Given the description of an element on the screen output the (x, y) to click on. 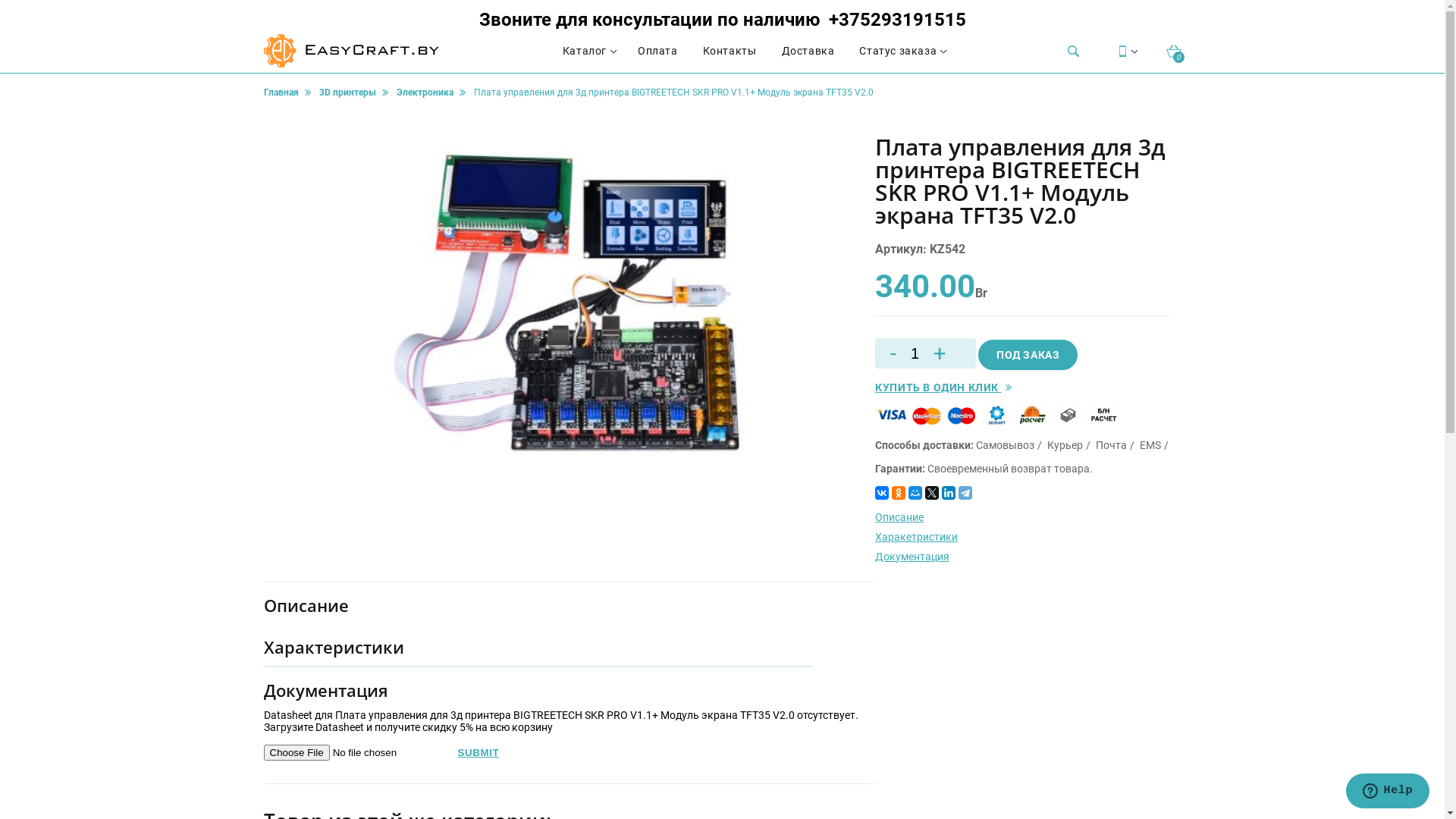
LinkedIn Element type: hover (948, 492)
Twitter Element type: hover (931, 492)
Opens a widget where you can chat to one of our agents Element type: hover (1387, 792)
0 Element type: text (1173, 50)
Telegram Element type: hover (965, 492)
